Given the description of an element on the screen output the (x, y) to click on. 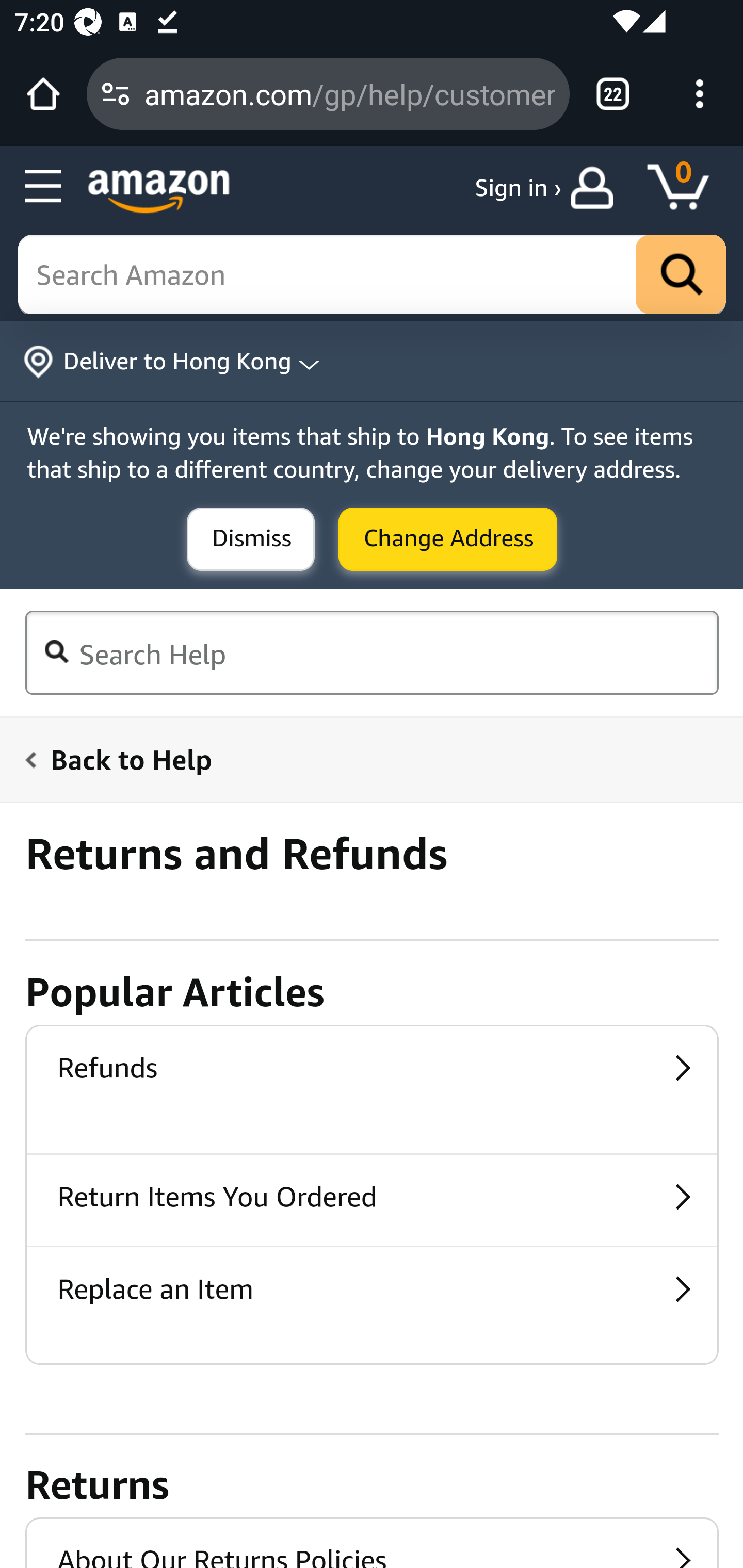
Open the home page (43, 93)
Connection is secure (115, 93)
Switch or close tabs (612, 93)
Customize and control Google Chrome (699, 93)
Open Menu (44, 187)
Sign in › (518, 188)
your account (596, 188)
Cart 0 (687, 188)
Amazon (158, 191)
Go (681, 275)
Submit (250, 539)
Submit (447, 539)
Back to Help (359, 758)
Refunds (371, 1070)
Return Items You Ordered (371, 1200)
Replace an Item (371, 1291)
